Given the description of an element on the screen output the (x, y) to click on. 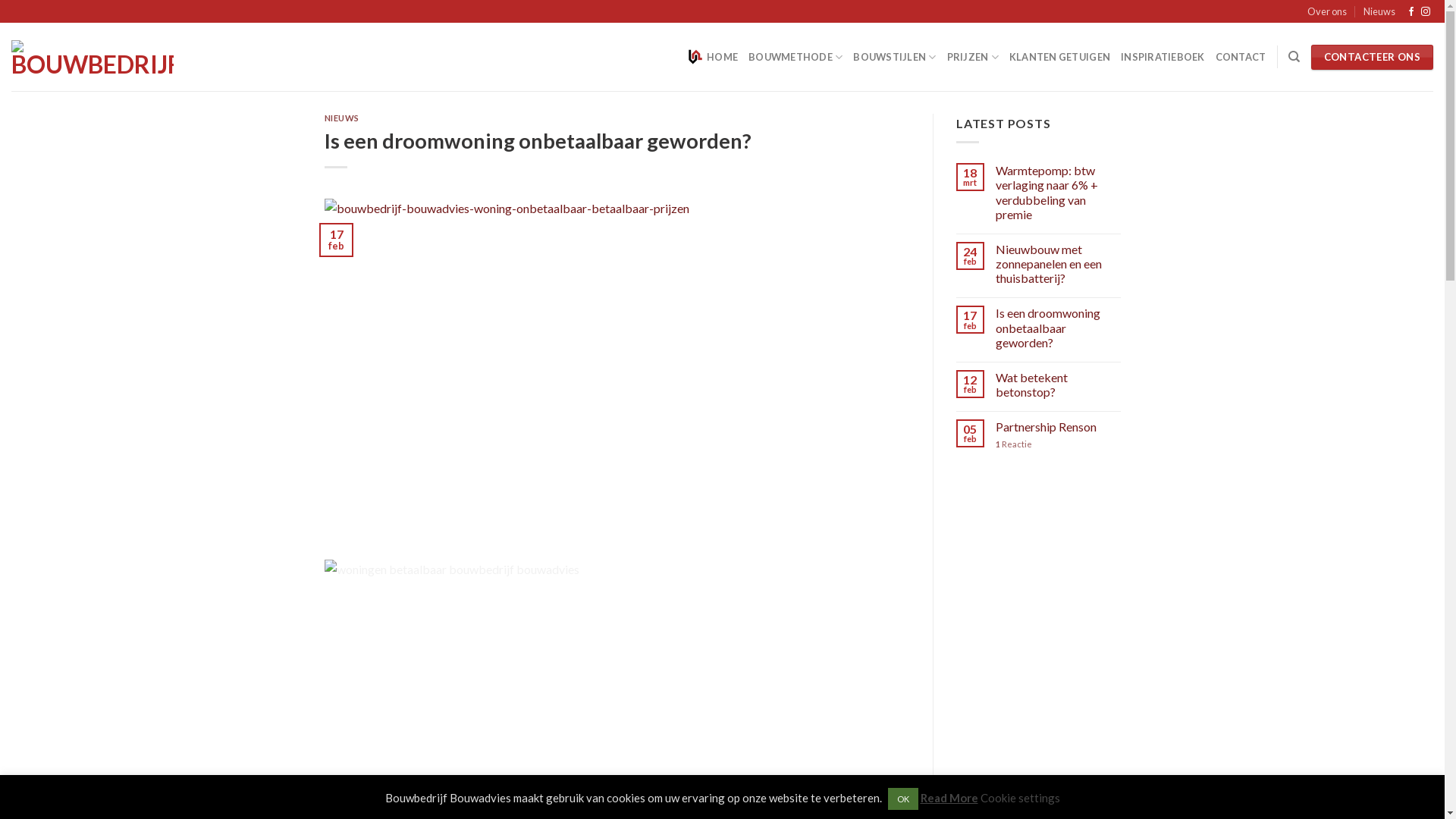
Cookie settings Element type: text (1019, 797)
BOUWMETHODE Element type: text (795, 56)
OK Element type: text (902, 798)
1 Reactie Element type: text (1057, 443)
Over ons Element type: text (1326, 11)
Wat betekent betonstop? Element type: text (1057, 384)
BOUWSTIJLEN Element type: text (894, 56)
Partnership Renson Element type: text (1057, 427)
Volg ons op Instagram Element type: hover (1425, 11)
Warmtepomp: btw verlaging naar 6% + verdubbeling van premie Element type: text (1057, 192)
Nieuws Element type: text (1379, 11)
HOME Element type: text (712, 56)
NIEUWS Element type: text (341, 117)
Volg ons op Facebook Element type: hover (1410, 11)
Nieuwbouw met zonnepanelen en een thuisbatterij? Element type: text (1057, 263)
Read More Element type: text (949, 797)
CONTACTEER ONS Element type: text (1372, 57)
KLANTEN GETUIGEN Element type: text (1059, 56)
Is een droomwoning onbetaalbaar geworden? Element type: text (1057, 328)
INSPIRATIEBOEK Element type: text (1162, 56)
PRIJZEN Element type: text (972, 56)
CONTACT Element type: text (1240, 56)
Bouwbedrijf Bouwadvies Element type: hover (92, 57)
